Given the description of an element on the screen output the (x, y) to click on. 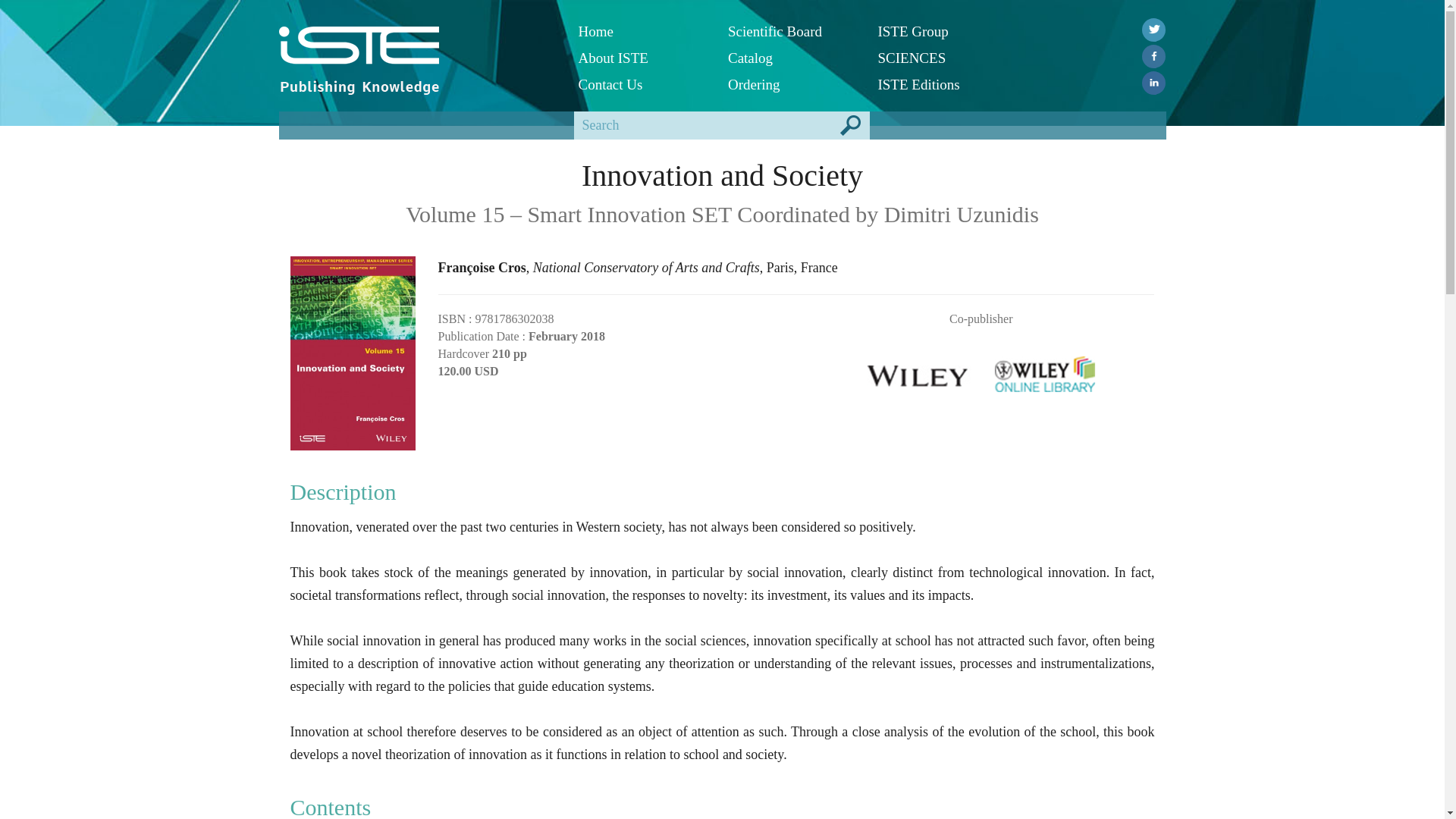
ISTE Editions (940, 84)
Contact Us (641, 84)
Publishing Knowledge (359, 86)
ISTE Editions (940, 84)
Linked In (1153, 83)
Catalog (791, 58)
Ordering (791, 84)
Wiley Online Library (1044, 369)
Scientific Board (791, 31)
ISTE (359, 49)
About ISTE (641, 58)
ISTE (417, 46)
Scientific Board (791, 31)
